Given the description of an element on the screen output the (x, y) to click on. 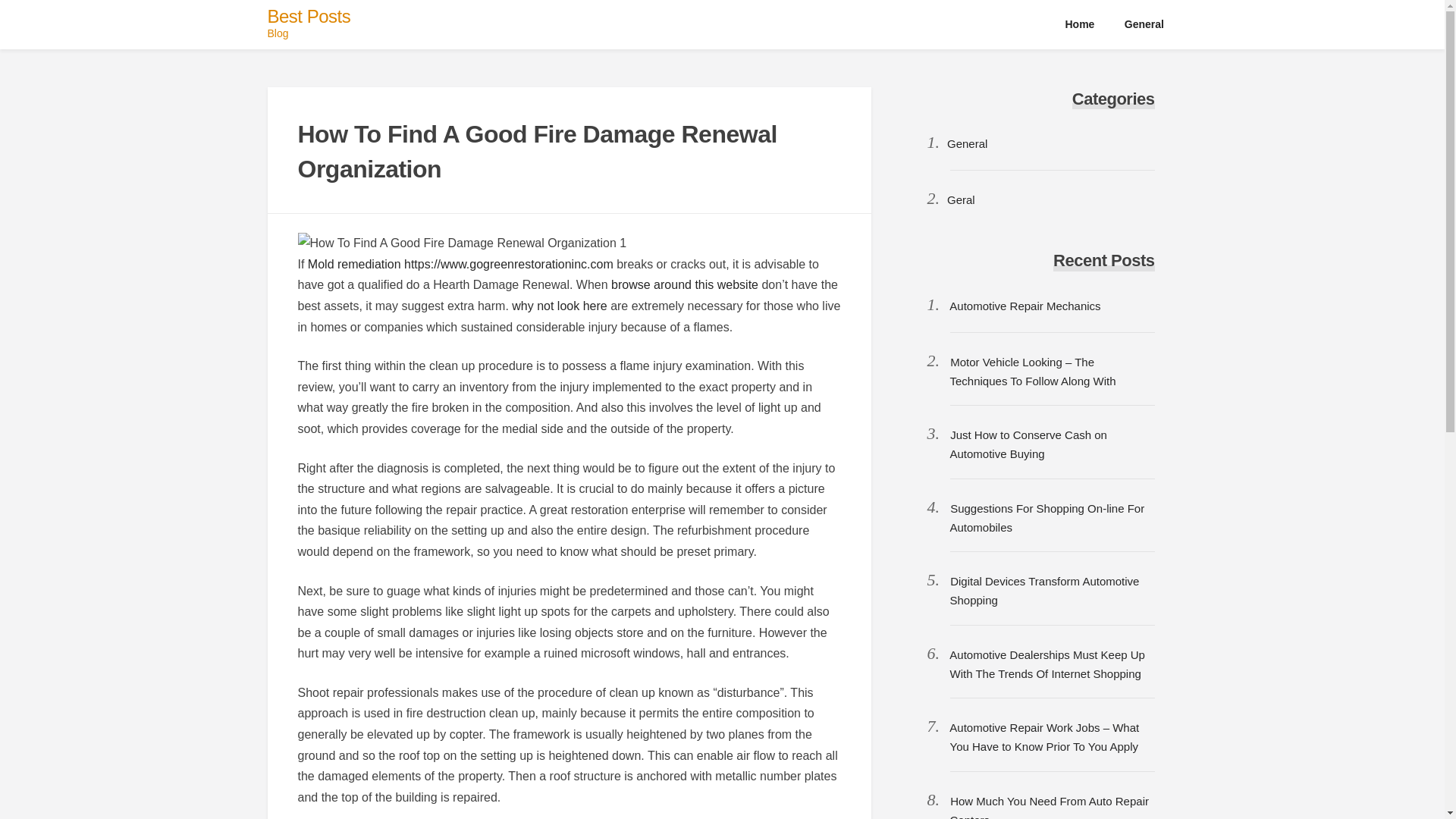
Geral (961, 199)
How Much You Need From Auto Repair Centers (1048, 806)
Best Posts (308, 15)
General (1143, 24)
Just How to Conserve Cash on Automotive Buying (1027, 444)
browse around this website (684, 284)
Suggestions For Shopping On-line For Automobiles (1046, 517)
Automotive Repair Mechanics (1024, 305)
Digital Devices Transform Automotive Shopping (1043, 590)
General (967, 143)
why not look here (559, 305)
Home (1079, 24)
